Given the description of an element on the screen output the (x, y) to click on. 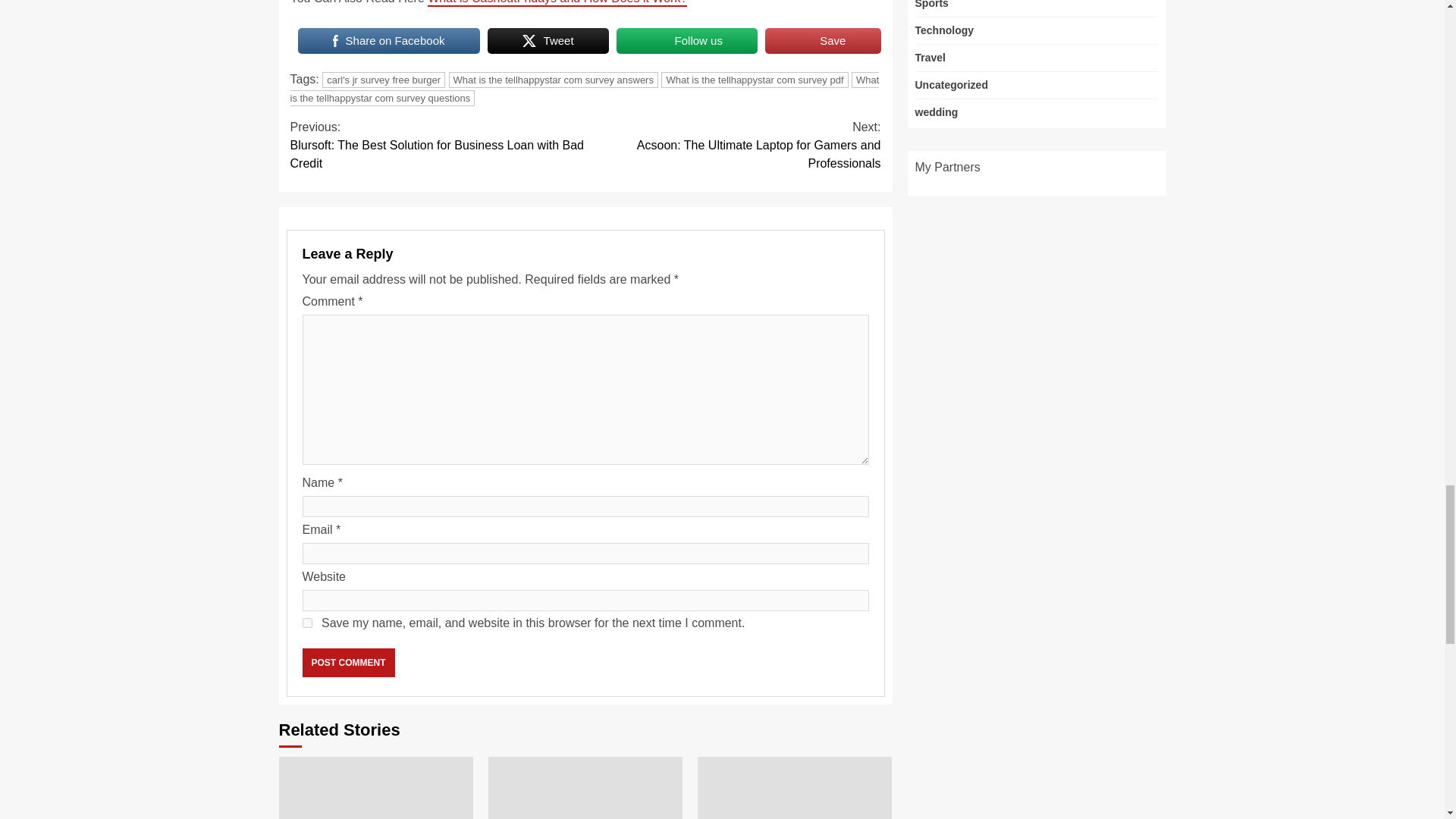
What is the tellhappystar com survey answers (553, 79)
Follow us (686, 40)
What is the tellhappystar com survey pdf (754, 79)
Post Comment (347, 662)
What is the tellhappystar com survey questions (584, 89)
Post Comment (347, 662)
Share on Facebook (388, 40)
carl's jr survey free burger (383, 79)
Save (822, 40)
What is CashoutFridays and How Does it Work? (557, 3)
yes (306, 623)
Tweet (547, 40)
